Given the description of an element on the screen output the (x, y) to click on. 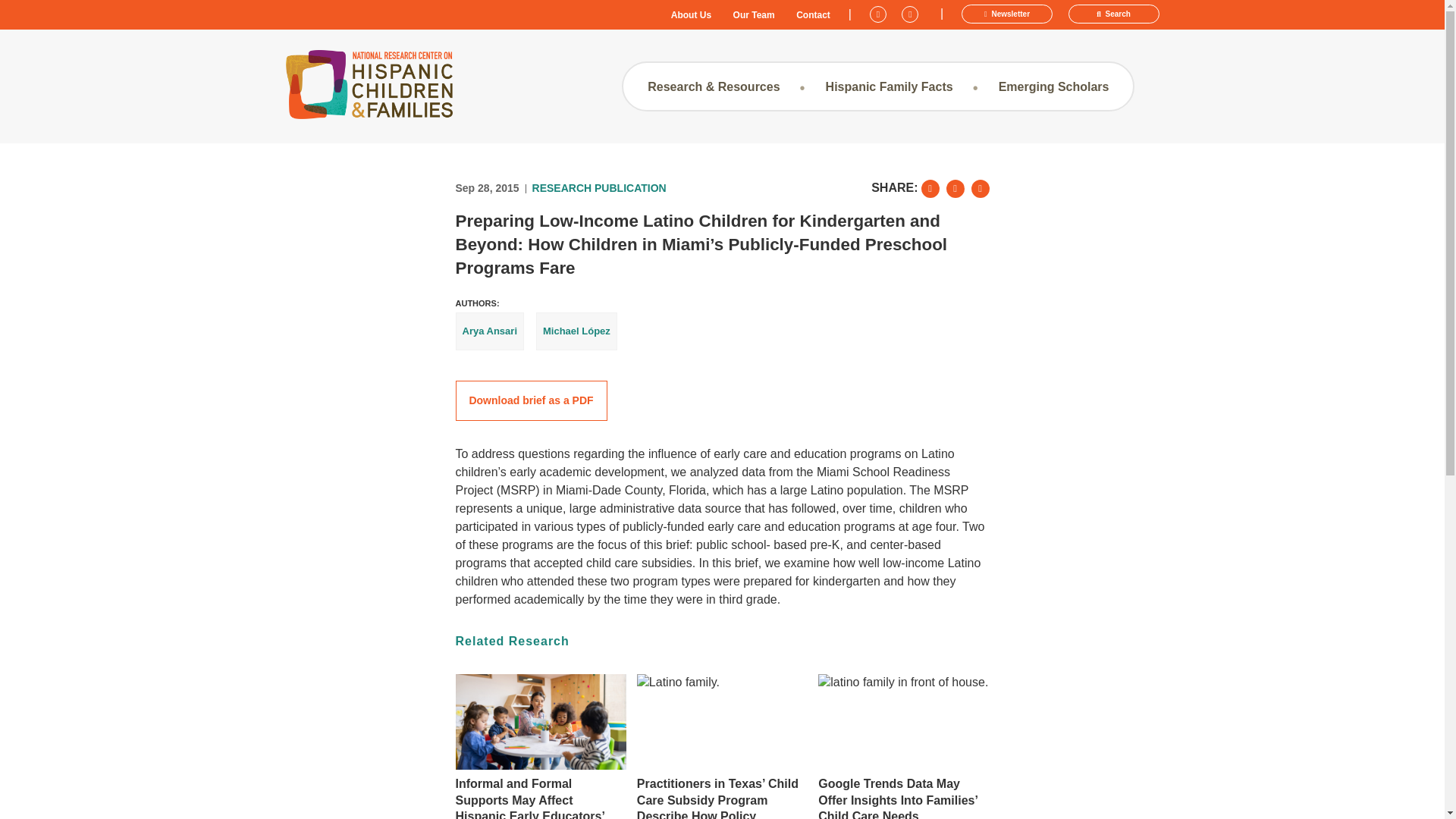
Our Team (753, 14)
Twitter (879, 12)
logo Created with Sketch. (368, 86)
Contact (812, 14)
Arya Ansari (489, 331)
logo Created with Sketch. (368, 83)
share on facebook (954, 188)
About Us (691, 14)
Print (979, 188)
Newsletter (1006, 13)
